Given the description of an element on the screen output the (x, y) to click on. 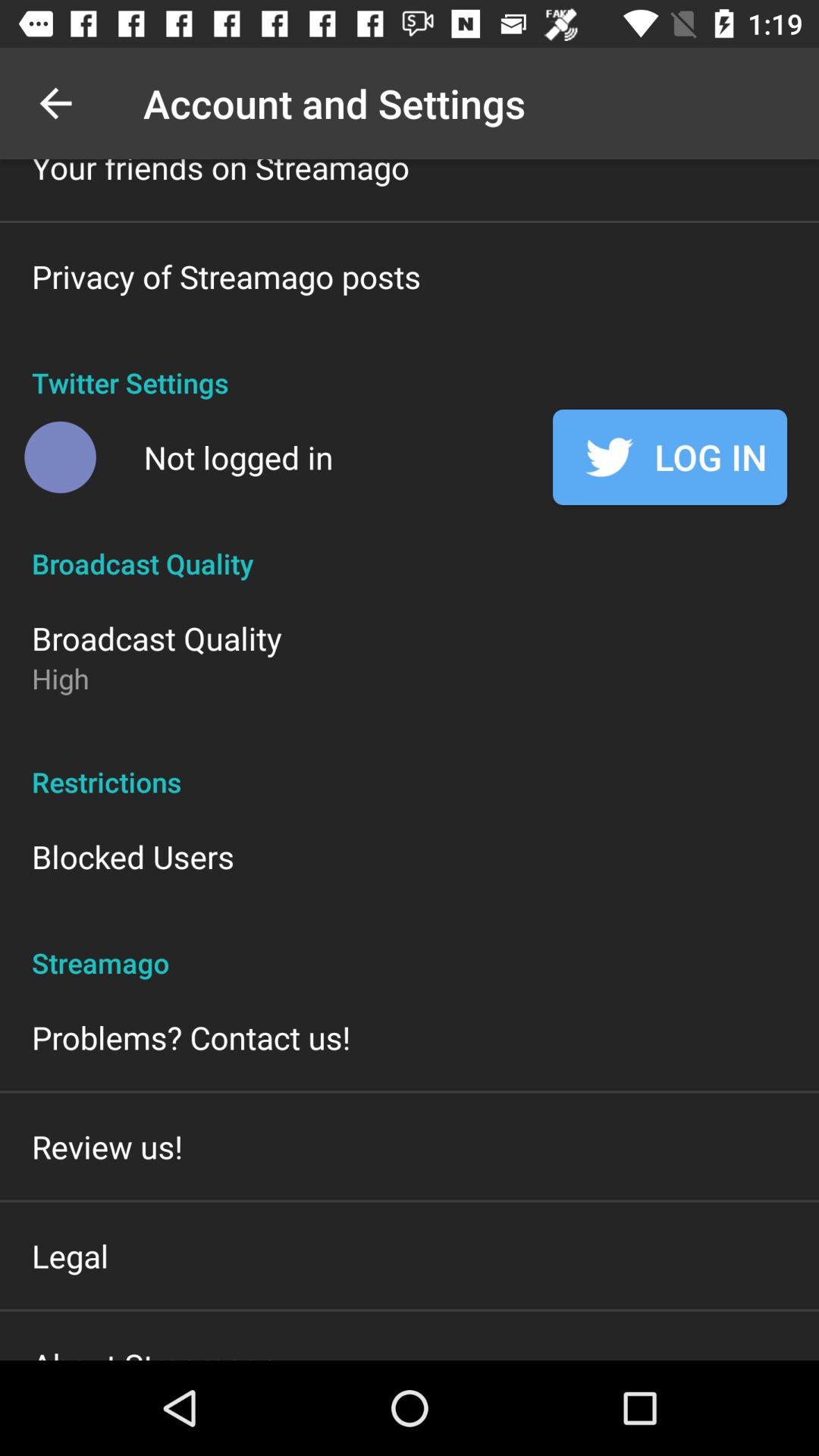
swipe until high (60, 678)
